Given the description of an element on the screen output the (x, y) to click on. 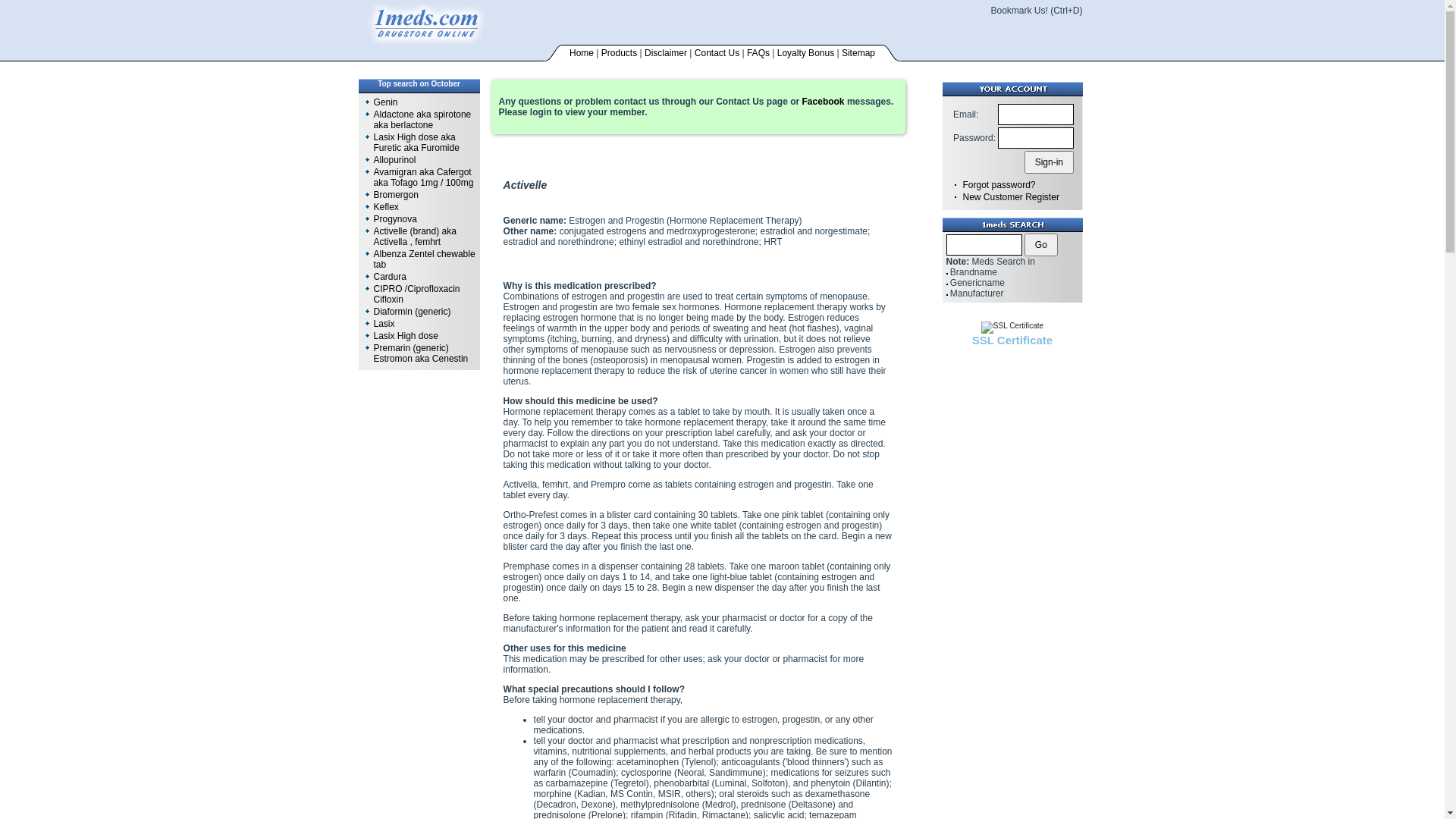
Bromergon Element type: text (395, 194)
Facebook Element type: text (823, 101)
FAQs Element type: text (757, 52)
Forgot password? Element type: text (999, 184)
CIPRO /Ciprofloxacin Cifloxin Element type: text (416, 293)
Activelle (brand) aka Activella , femhrt Element type: text (414, 236)
Progynova Element type: text (394, 218)
Keflex Element type: text (385, 206)
New Customer Register Element type: text (1011, 196)
Loyalty Bonus Element type: text (805, 52)
Products Element type: text (619, 52)
Avamigran aka Cafergot aka Tofago 1mg / 100mg Element type: text (423, 177)
Go Element type: text (1040, 244)
Sitemap Element type: text (858, 52)
Contact Us Element type: text (716, 52)
Lasix Element type: text (383, 323)
SSL Certificate Element type: hover (1012, 327)
Sign-in Element type: text (1048, 161)
Allopurinol Element type: text (394, 159)
Lasix High dose aka Furetic aka Furomide Element type: text (415, 142)
Albenza Zentel chewable tab Element type: text (423, 258)
Home Element type: text (581, 52)
SSL Certificate Element type: text (1012, 339)
Lasix High dose Element type: text (405, 335)
Genin Element type: text (385, 102)
Disclaimer Element type: text (665, 52)
Aldactone aka spirotone aka berlactone Element type: text (421, 119)
Premarin (generic) Estromon aka Cenestin Element type: text (420, 353)
Cardura Element type: text (389, 276)
Diaformin (generic) Element type: text (411, 311)
